Given the description of an element on the screen output the (x, y) to click on. 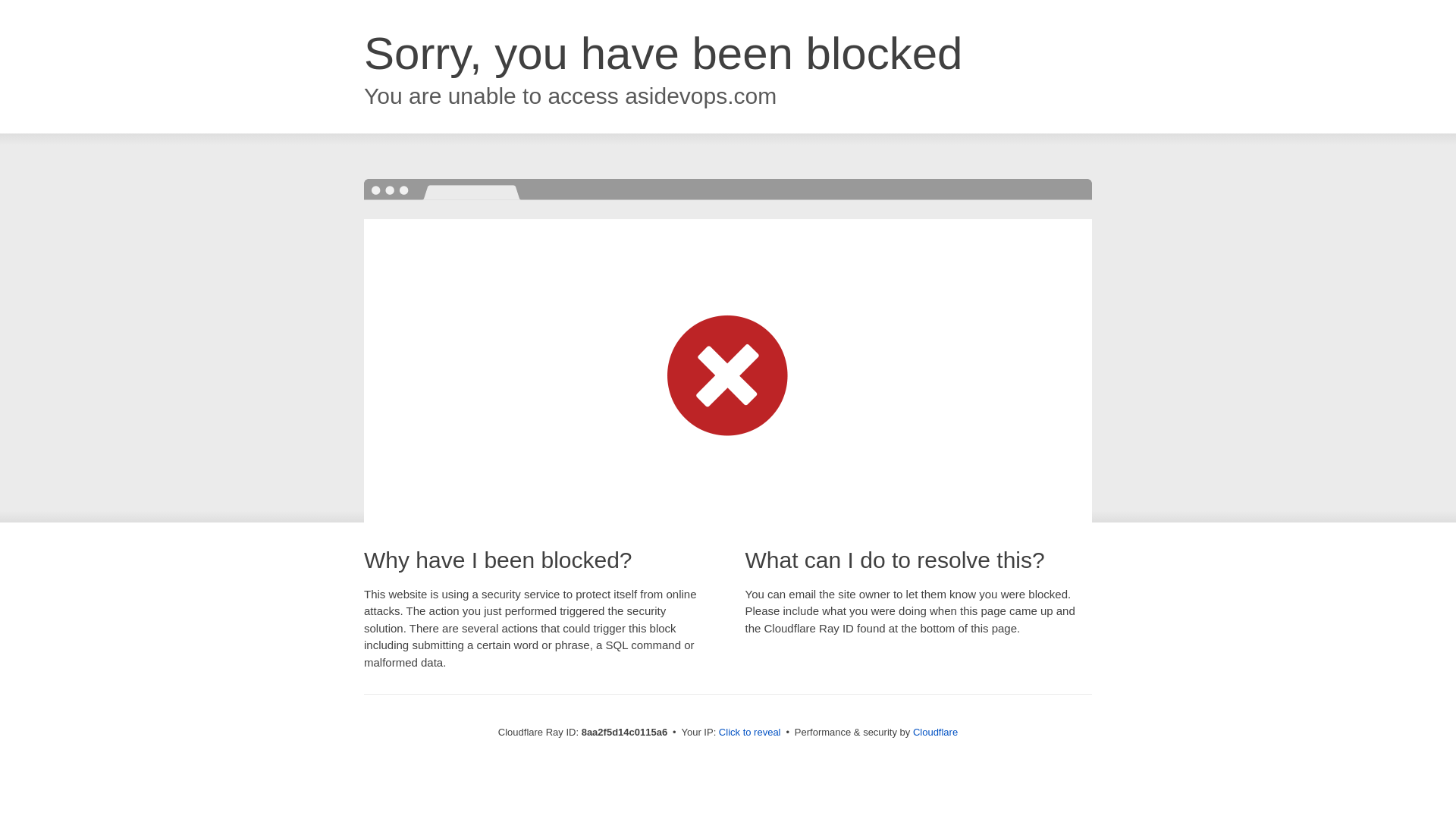
Cloudflare (935, 731)
Click to reveal (749, 732)
